Given the description of an element on the screen output the (x, y) to click on. 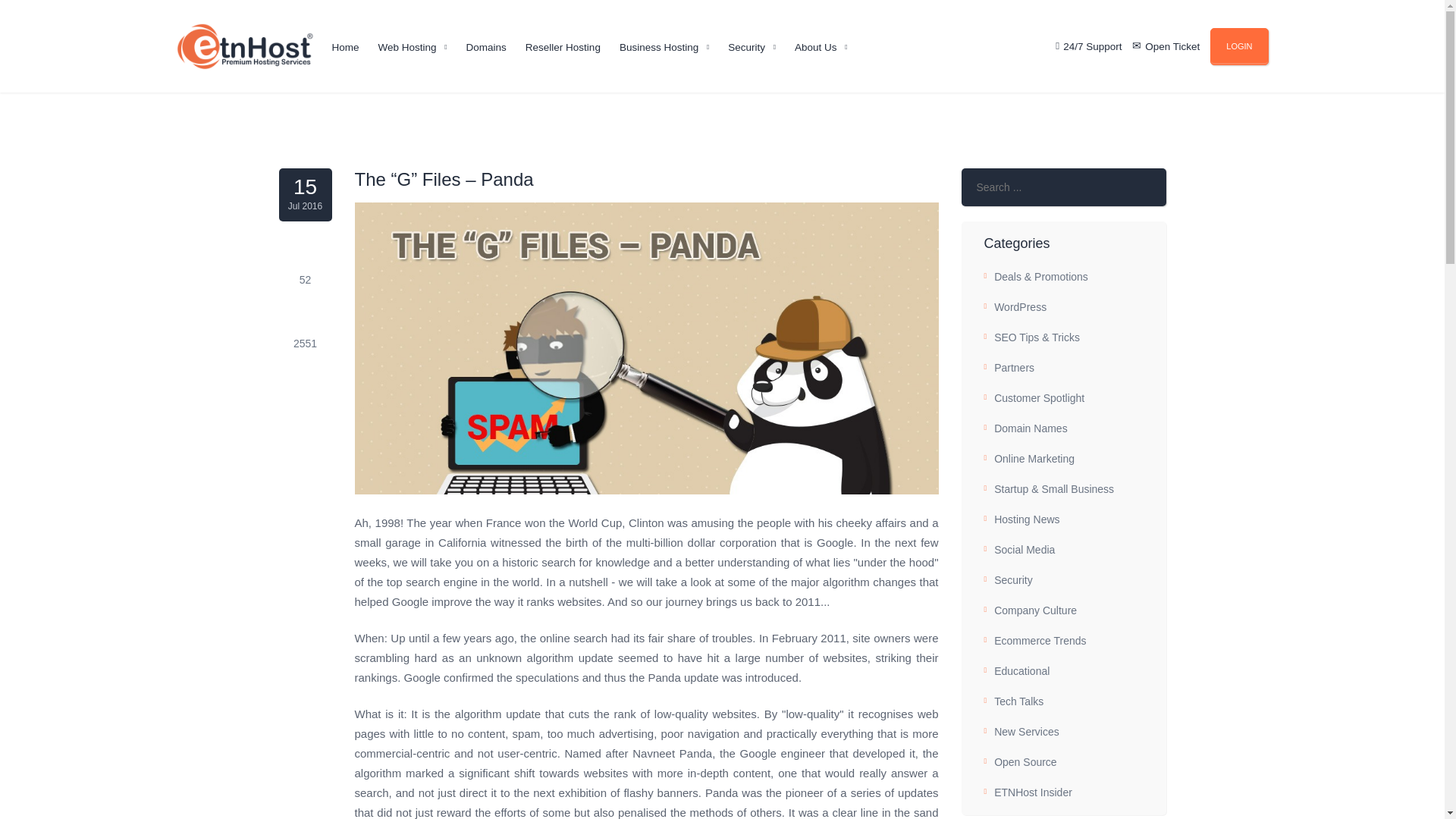
WordPress (1063, 306)
Views (304, 322)
Partners (1063, 367)
Security (746, 52)
Domains (485, 52)
LOGIN (1238, 46)
Domain Names (1063, 428)
Web Hosting (407, 52)
Like this post (304, 258)
Customer Spotlight (1063, 398)
Home (345, 52)
Business Hosting (659, 52)
Open Ticket (1171, 46)
Reseller Hosting (562, 52)
About Us (815, 52)
